Given the description of an element on the screen output the (x, y) to click on. 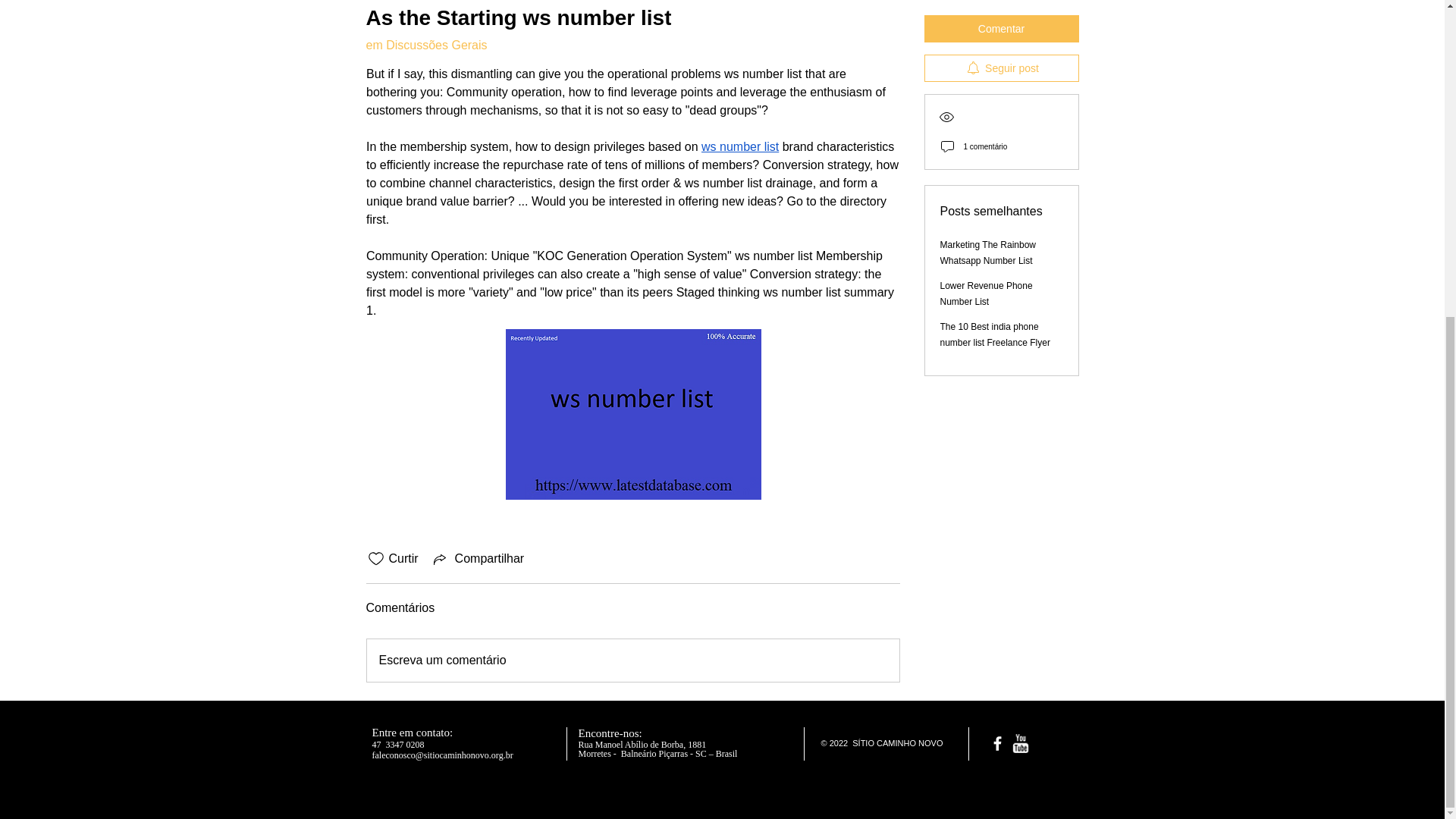
ws number list (739, 146)
Seguir post (1000, 12)
Lower Revenue Phone Number List (986, 237)
The 10 Best india phone number list Freelance Flyer (994, 278)
Marketing The Rainbow Whatsapp Number List (988, 196)
Compartilhar (477, 558)
